Given the description of an element on the screen output the (x, y) to click on. 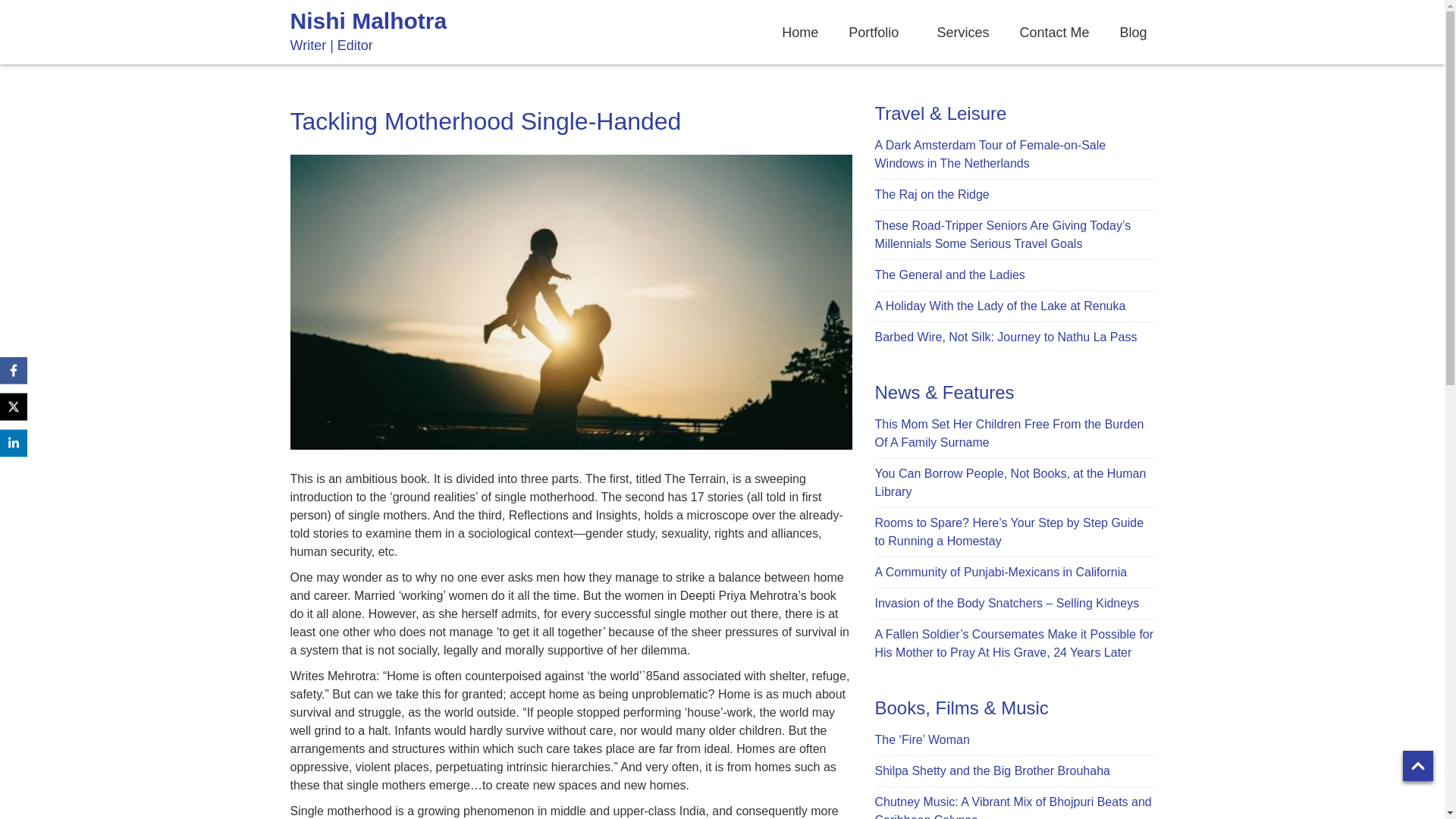
Barbed Wire, Not Silk: Journey to Nathu La Pass (1006, 336)
Services (961, 32)
The Raj on the Ridge (932, 194)
A Holiday With the Lady of the Lake at Renuka (1000, 305)
Home (799, 32)
The General and the Ladies (950, 274)
You Can Borrow People, Not Books, at the Human Library (1011, 481)
